Given the description of an element on the screen output the (x, y) to click on. 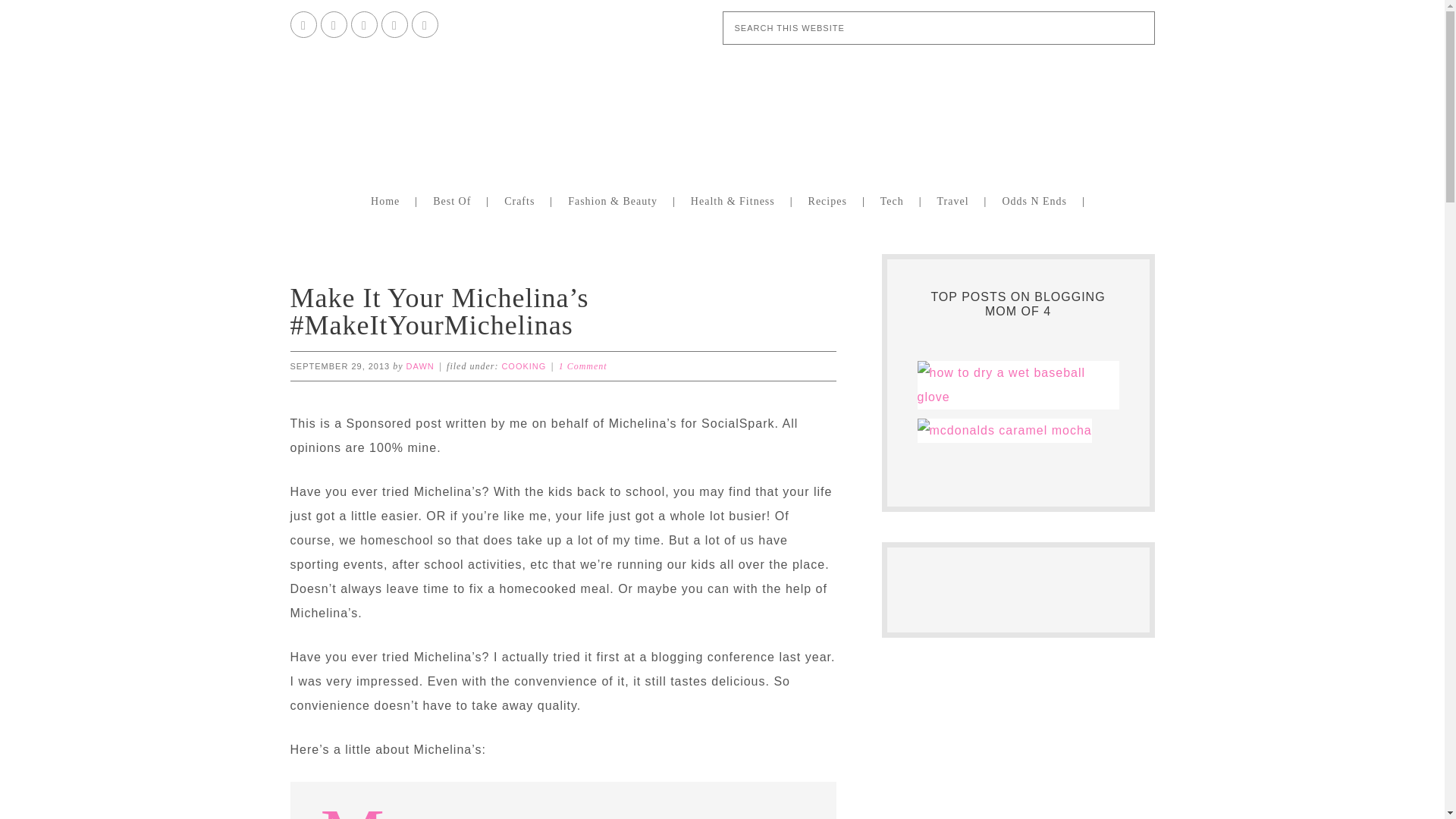
Odds N Ends (1037, 200)
Best Of (455, 200)
Crafts (523, 200)
Home (388, 200)
DAWN (419, 366)
Blogging Mom of 4 (721, 109)
1 Comment (583, 366)
